Given the description of an element on the screen output the (x, y) to click on. 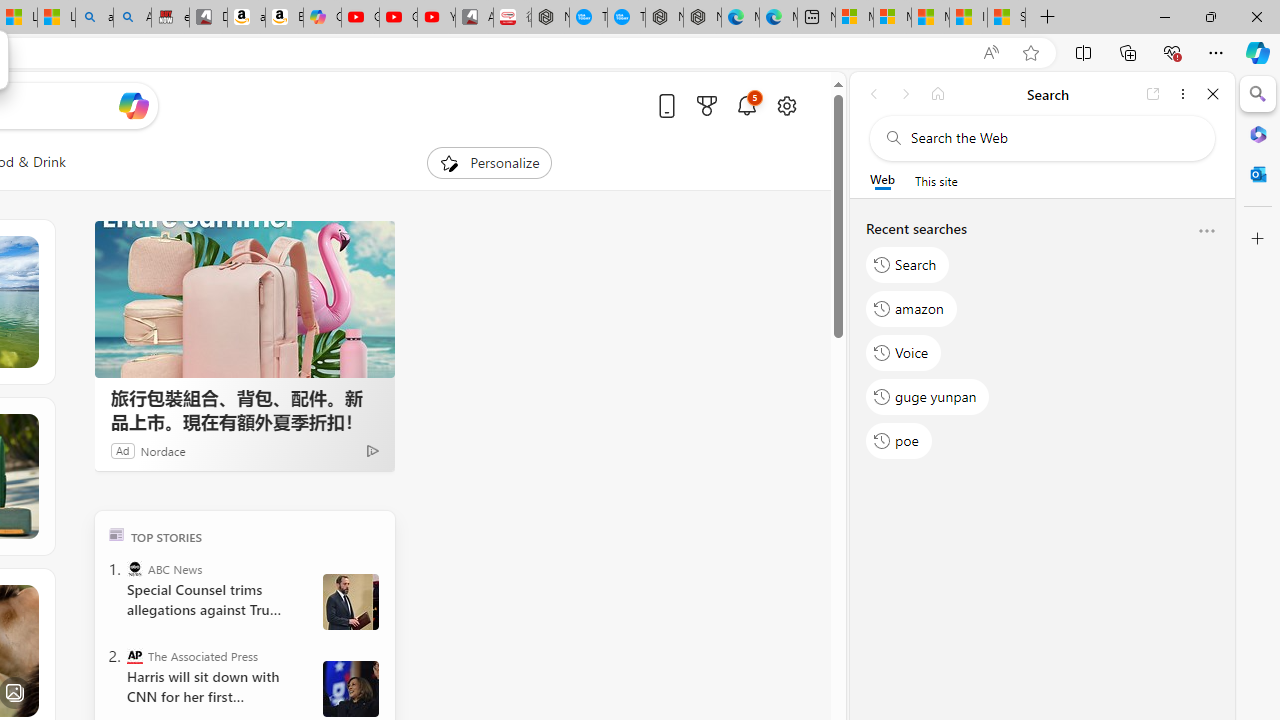
Nordace - Nordace has arrived Hong Kong (701, 17)
Recent searchesSearchamazonVoiceguge yunpanpoe (1042, 342)
Search the web (1051, 137)
Gloom - YouTube (398, 17)
Customize (1258, 239)
All Cubot phones (473, 17)
